Given the description of an element on the screen output the (x, y) to click on. 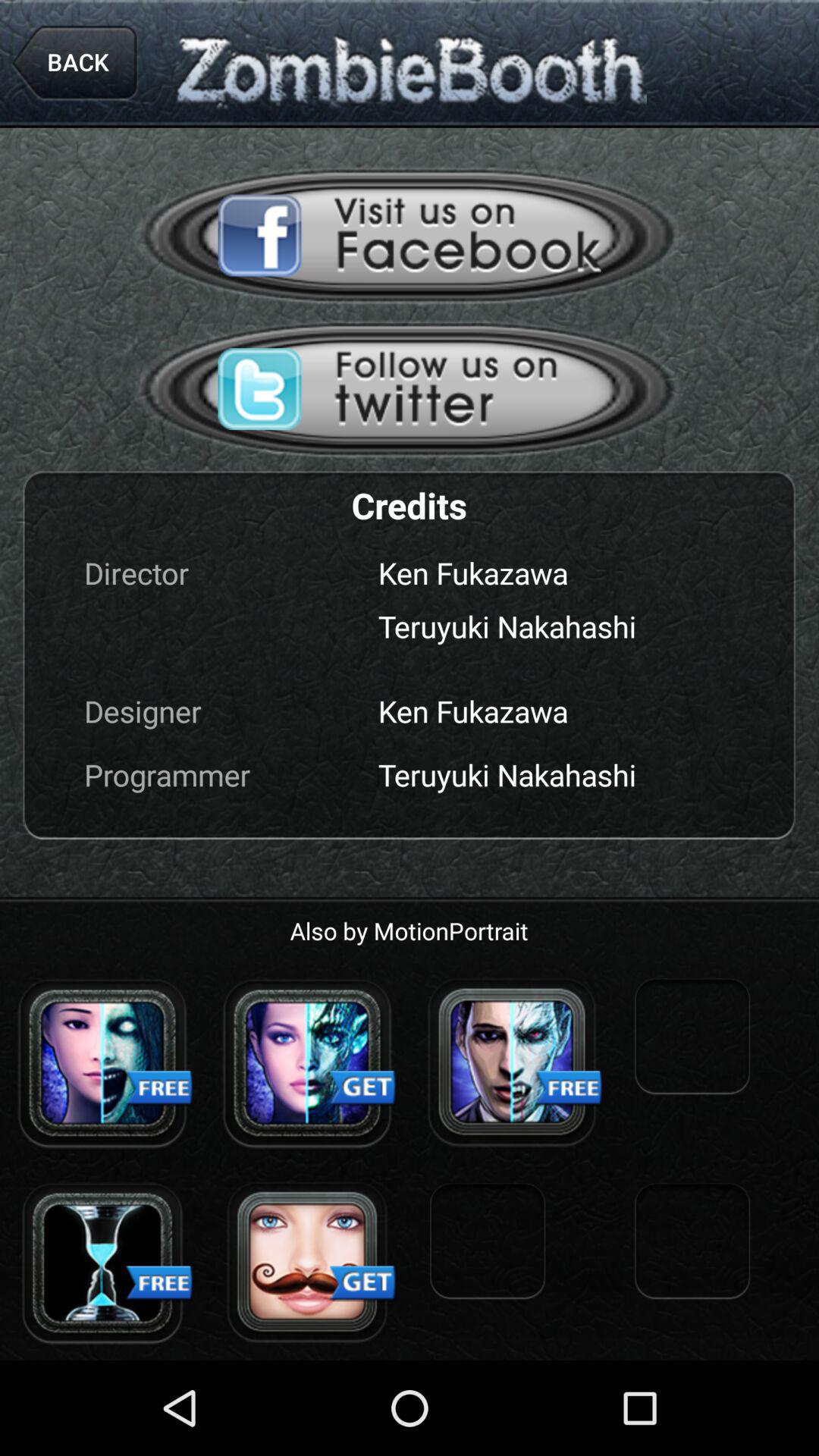
select this image (102, 1262)
